Given the description of an element on the screen output the (x, y) to click on. 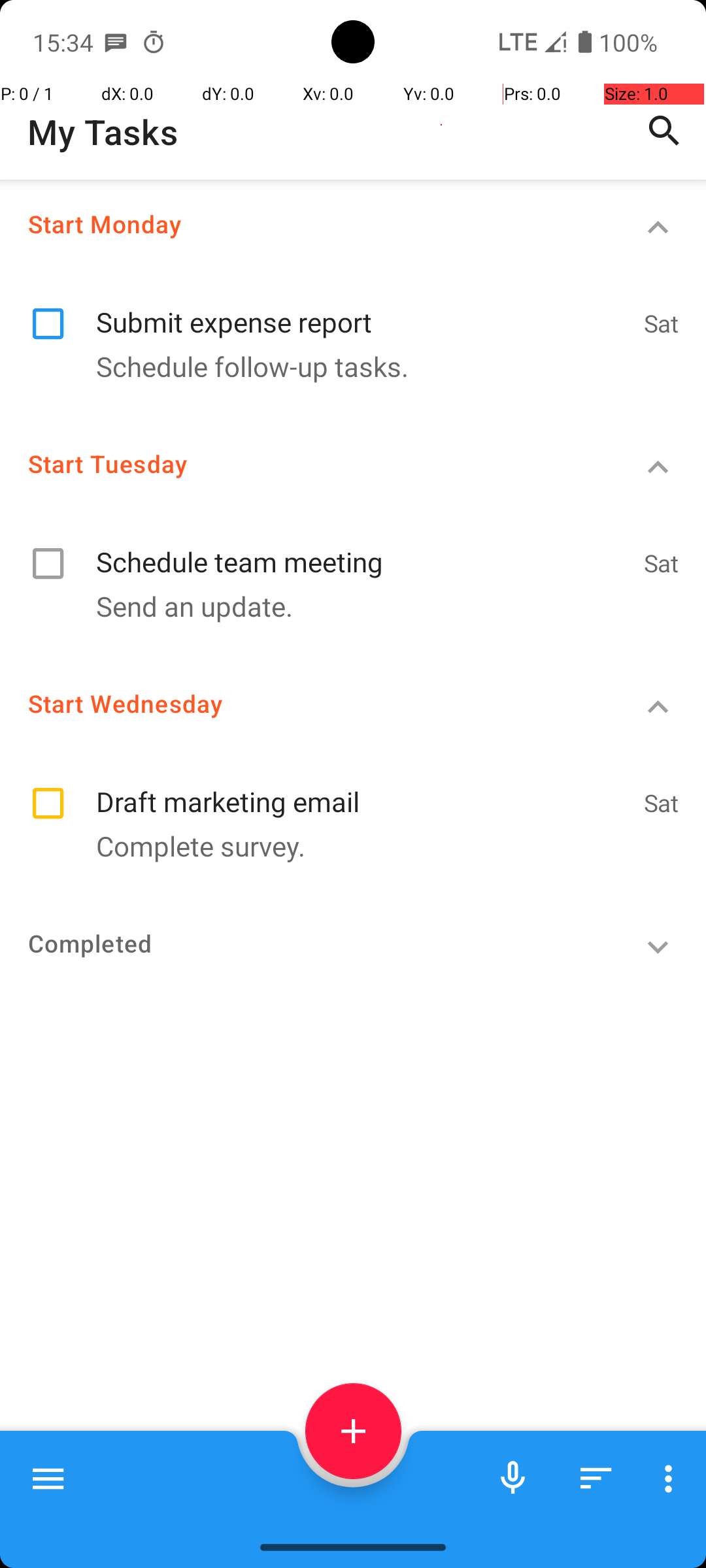
Start Monday Element type: android.widget.TextView (304, 223)
Start Tuesday Element type: android.widget.TextView (304, 463)
Start Wednesday Element type: android.widget.TextView (304, 703)
Completed Element type: android.widget.TextView (304, 942)
Submit expense report Element type: android.widget.TextView (363, 307)
Schedule follow-up tasks. Element type: android.widget.TextView (346, 365)
Schedule team meeting Element type: android.widget.TextView (363, 547)
Send an update. Element type: android.widget.TextView (346, 605)
Draft marketing email Element type: android.widget.TextView (363, 787)
Complete survey. Element type: android.widget.TextView (346, 845)
